Given the description of an element on the screen output the (x, y) to click on. 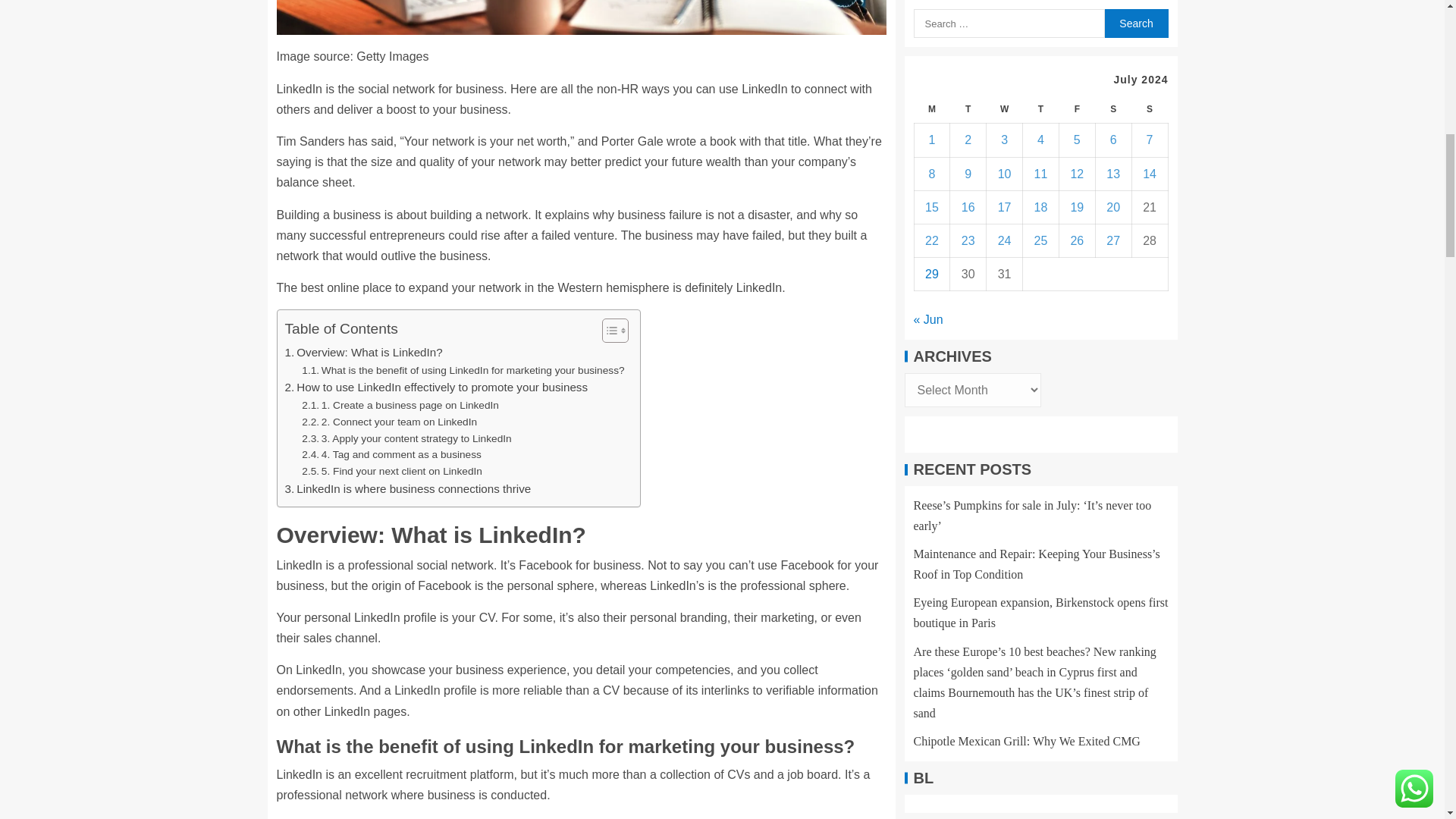
1. Create a business page on LinkedIn (400, 405)
5. Find your next client on LinkedIn (391, 471)
4. Tag and comment as a business (391, 454)
1. Create a business page on LinkedIn (400, 405)
Overview: What is LinkedIn? (363, 352)
LinkedIn is where business connections thrive (408, 488)
2. Connect your team on LinkedIn (389, 422)
5. Find your next client on LinkedIn (391, 471)
How to use LinkedIn effectively to promote your business (436, 387)
LinkedIn is where business connections thrive (408, 488)
3. Apply your content strategy to LinkedIn (406, 438)
4. Tag and comment as a business (391, 454)
2. Connect your team on LinkedIn (389, 422)
